Given the description of an element on the screen output the (x, y) to click on. 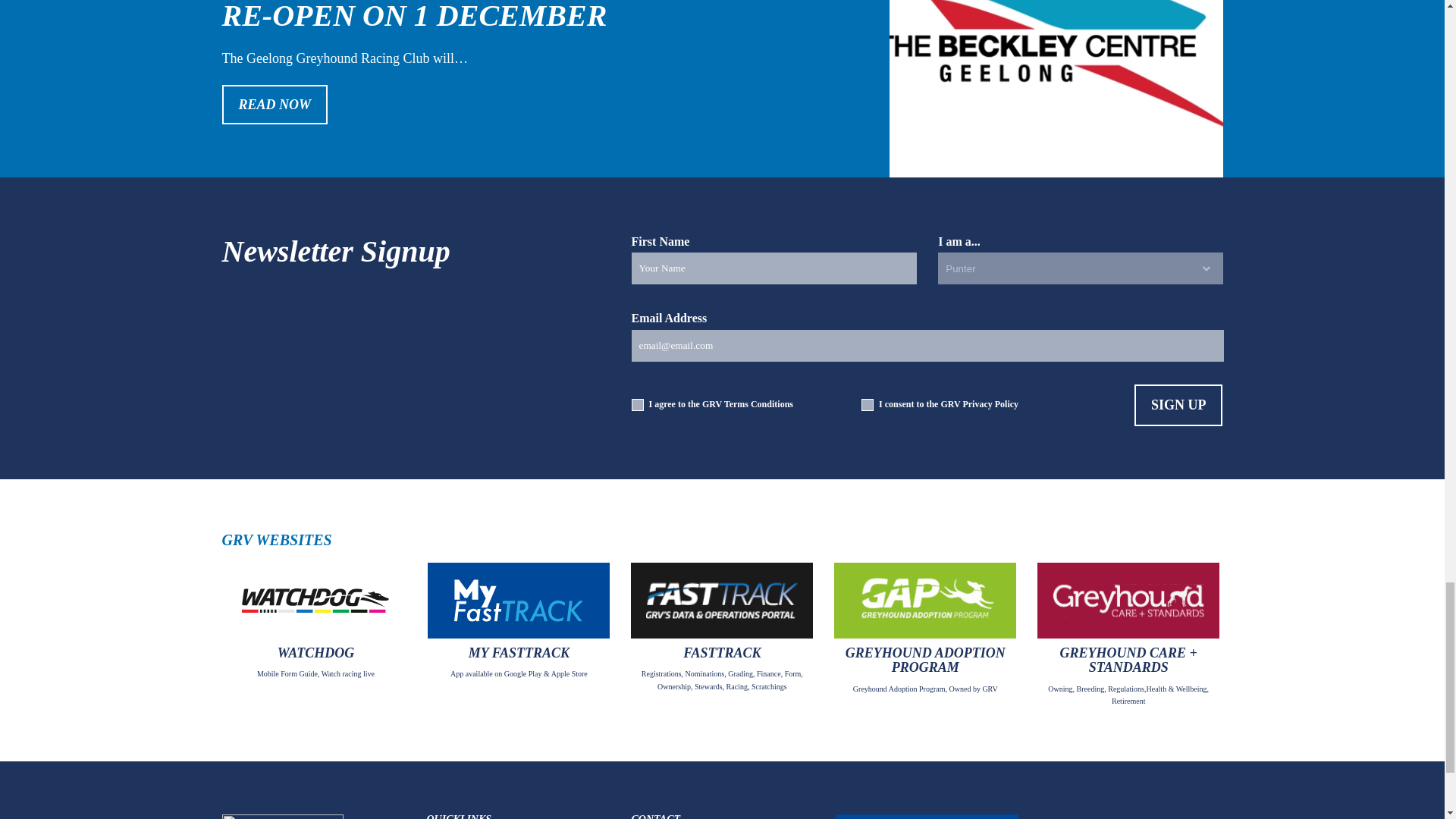
1 (867, 404)
1 (636, 404)
Sign Up (1178, 404)
